Given the description of an element on the screen output the (x, y) to click on. 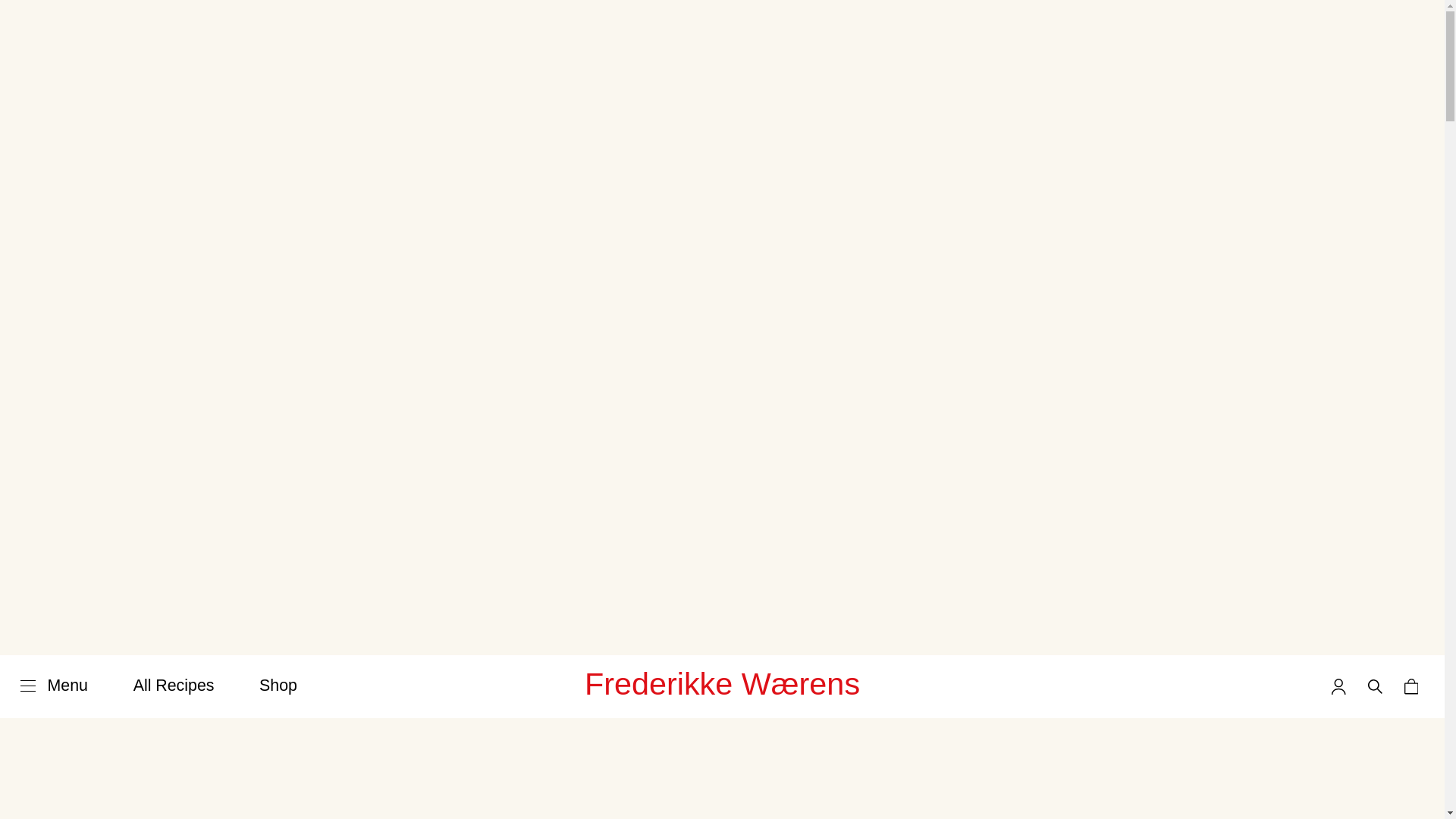
All Recipes (173, 685)
Shop (278, 685)
